Given the description of an element on the screen output the (x, y) to click on. 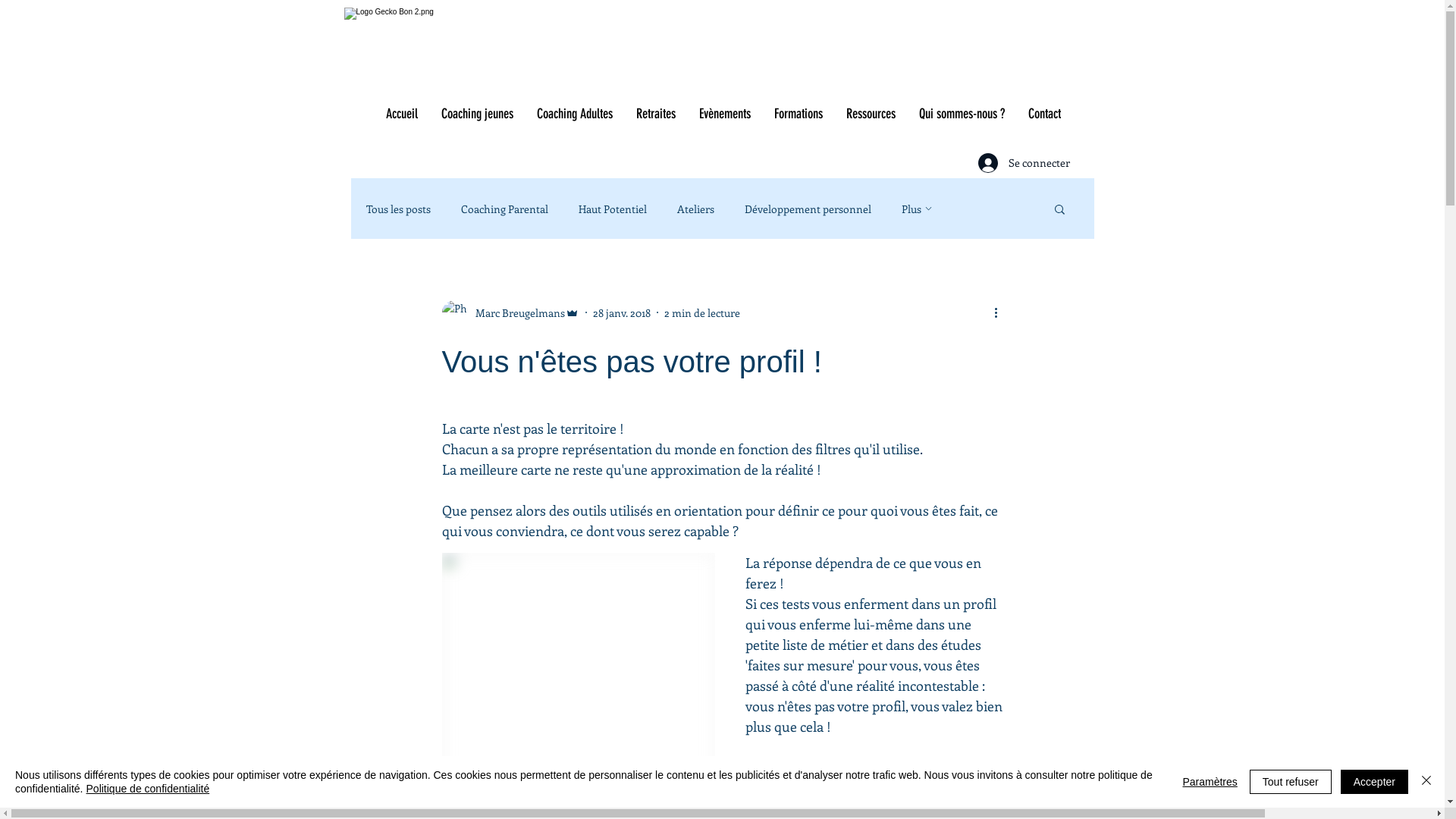
Haut Potentiel Element type: text (611, 208)
Tous les posts Element type: text (397, 208)
Accueil Element type: text (400, 113)
Coaching jeunes Element type: text (476, 113)
Coaching Parental Element type: text (504, 208)
Se connecter Element type: text (1023, 162)
Formations Element type: text (797, 113)
Ressources Element type: text (870, 113)
Retraites Element type: text (654, 113)
Ateliers Element type: text (694, 208)
Tout refuser Element type: text (1290, 781)
Contact Element type: text (1044, 113)
Qui sommes-nous ? Element type: text (961, 113)
Coaching Adultes Element type: text (574, 113)
Marc Breugelmans Element type: text (509, 312)
Accepter Element type: text (1374, 781)
